Given the description of an element on the screen output the (x, y) to click on. 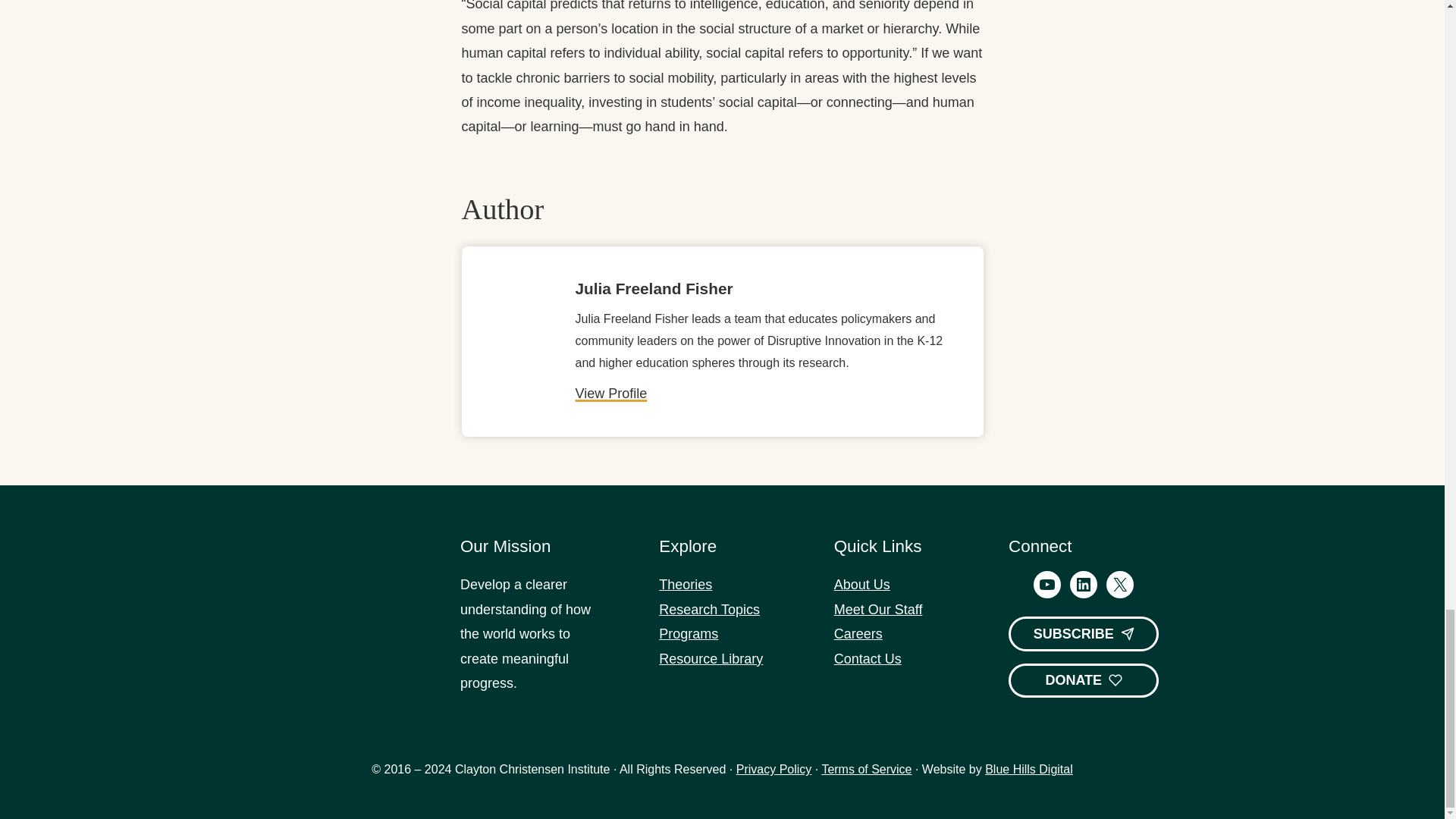
Theories (685, 584)
Meet Our Staff (878, 609)
About Us (861, 584)
View Profile (610, 393)
Resource Library (710, 658)
Research Topics (709, 609)
Programs (688, 633)
